Given the description of an element on the screen output the (x, y) to click on. 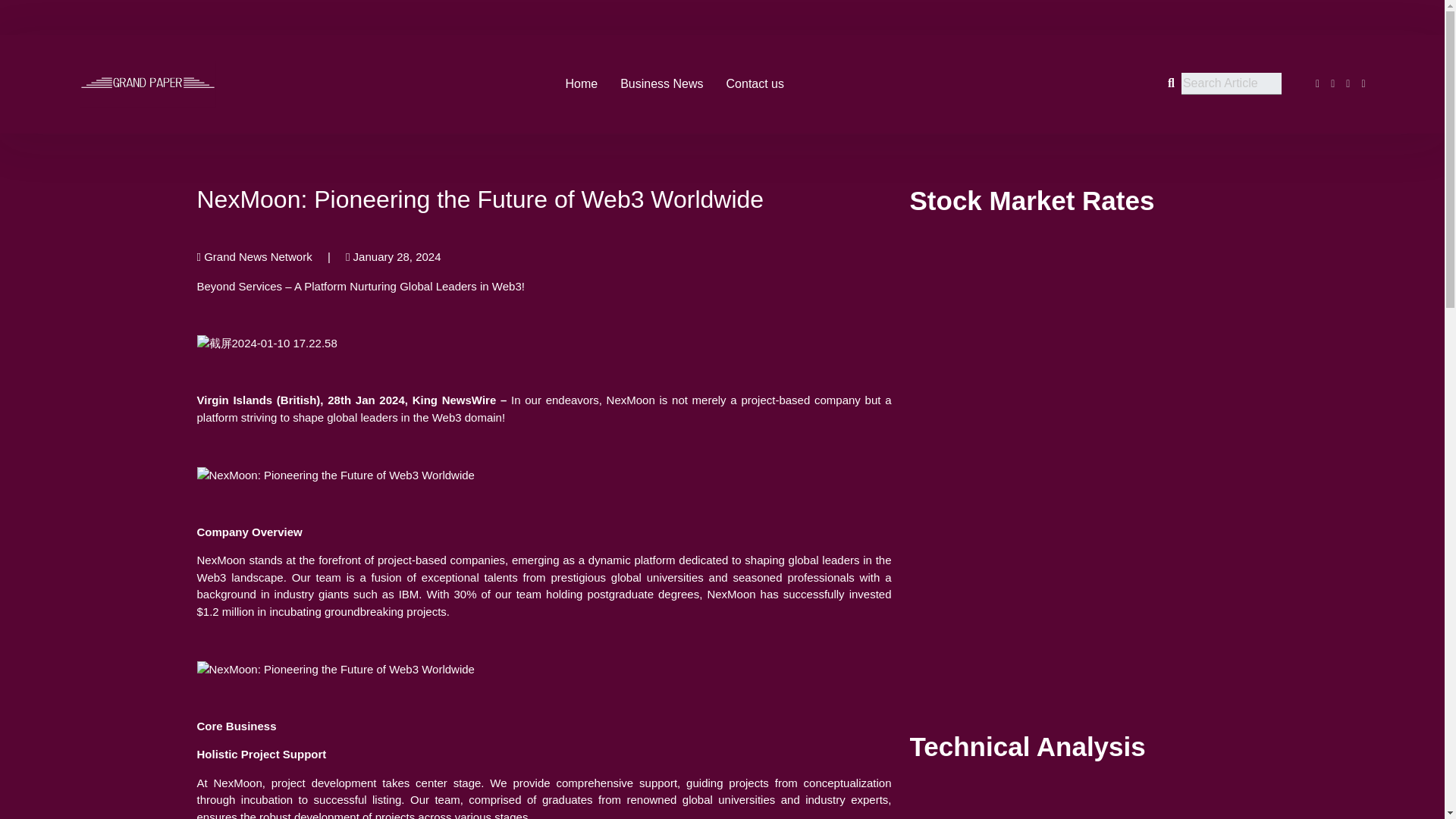
King NewsWire (454, 399)
Business News (661, 84)
Contact us (754, 84)
technical analysis TradingView widget (1078, 802)
Home (580, 84)
